Given the description of an element on the screen output the (x, y) to click on. 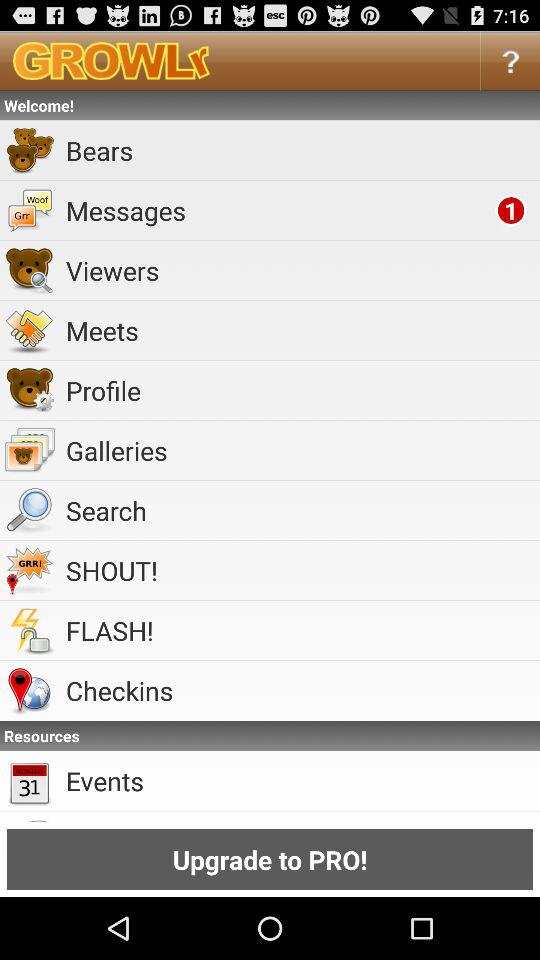
flip until messages icon (277, 210)
